Given the description of an element on the screen output the (x, y) to click on. 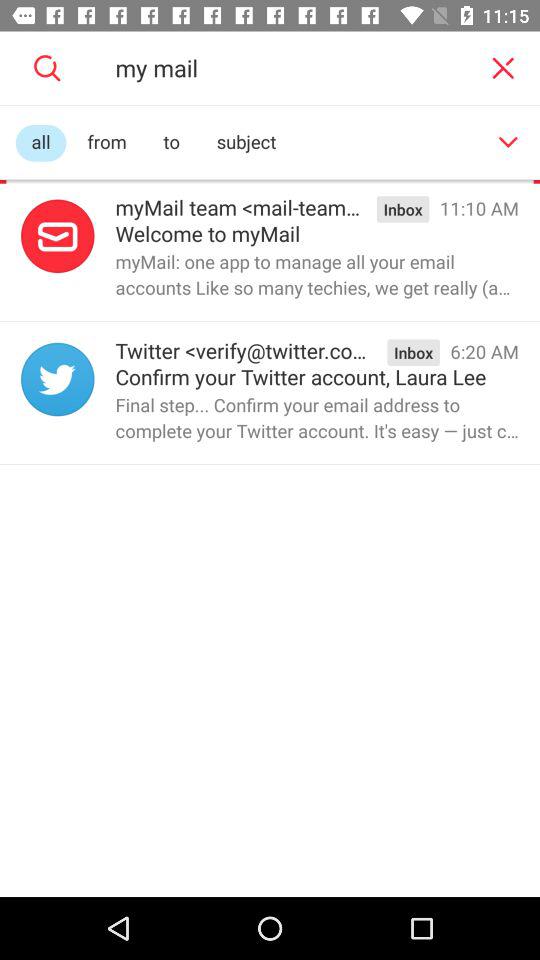
choose the item next to to (246, 142)
